Given the description of an element on the screen output the (x, y) to click on. 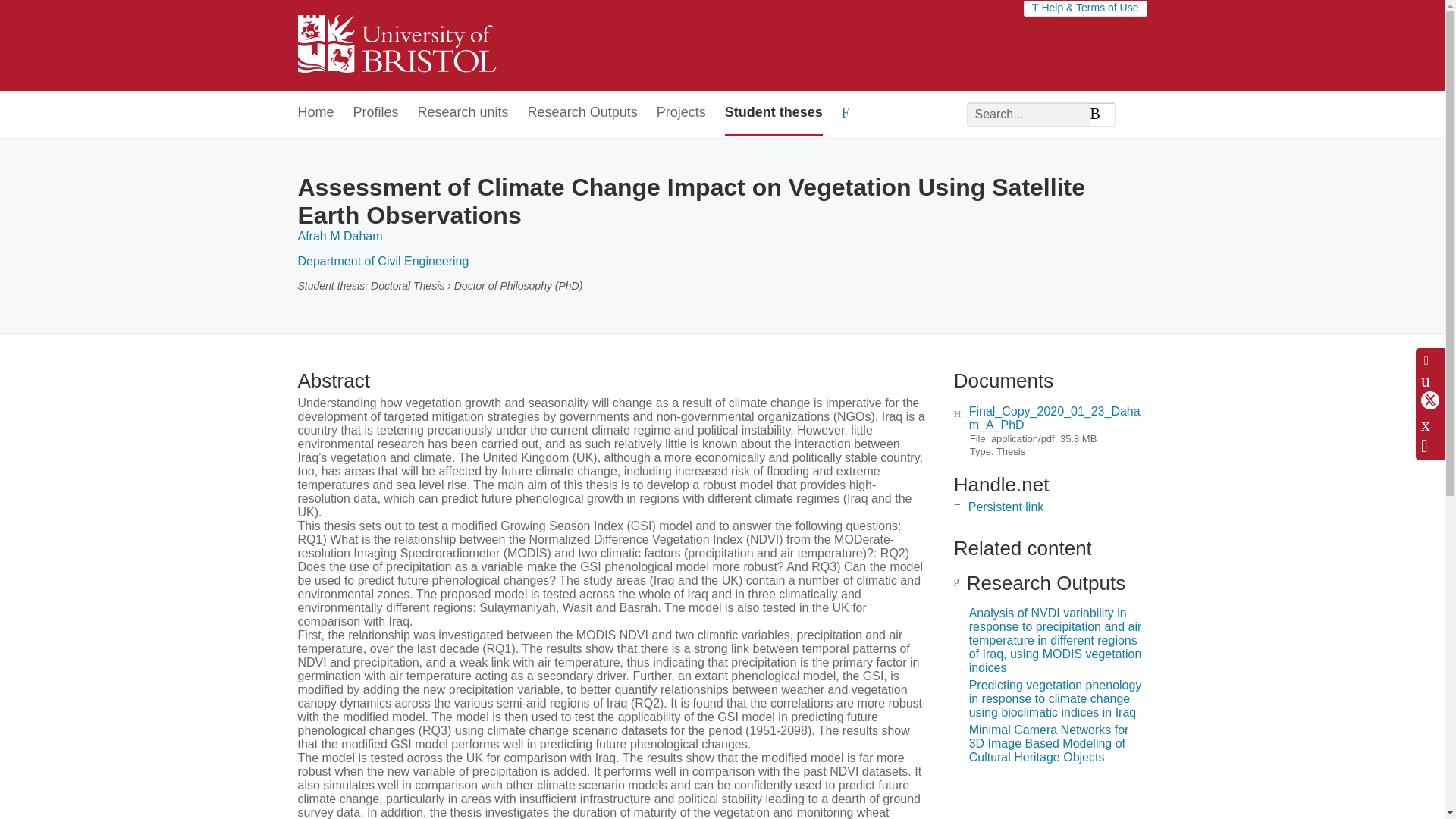
University of Bristol Home (396, 45)
Persistent link (1005, 506)
Projects (681, 112)
Profiles (375, 112)
Department of Civil Engineering (382, 260)
Research units (462, 112)
Student theses (773, 112)
